Given the description of an element on the screen output the (x, y) to click on. 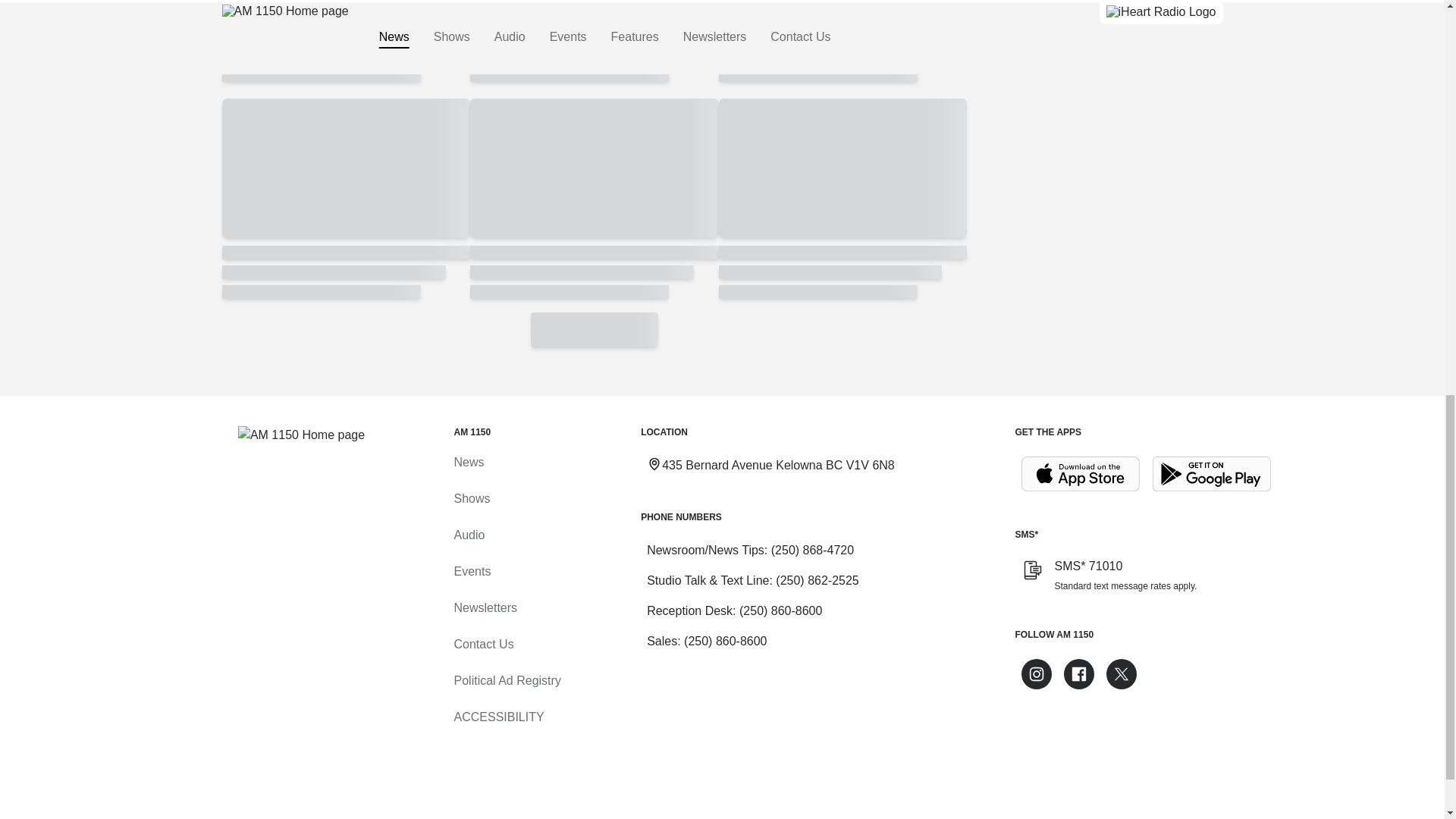
Political Ad Registry (506, 680)
Accessibility (497, 717)
Events (471, 571)
Get it on Google Play (1212, 474)
Download on the App Store (1080, 474)
Audio (468, 534)
ACCESSIBILITY (497, 717)
Shows (470, 498)
Contact Us (482, 644)
Newsletters (484, 607)
